Given the description of an element on the screen output the (x, y) to click on. 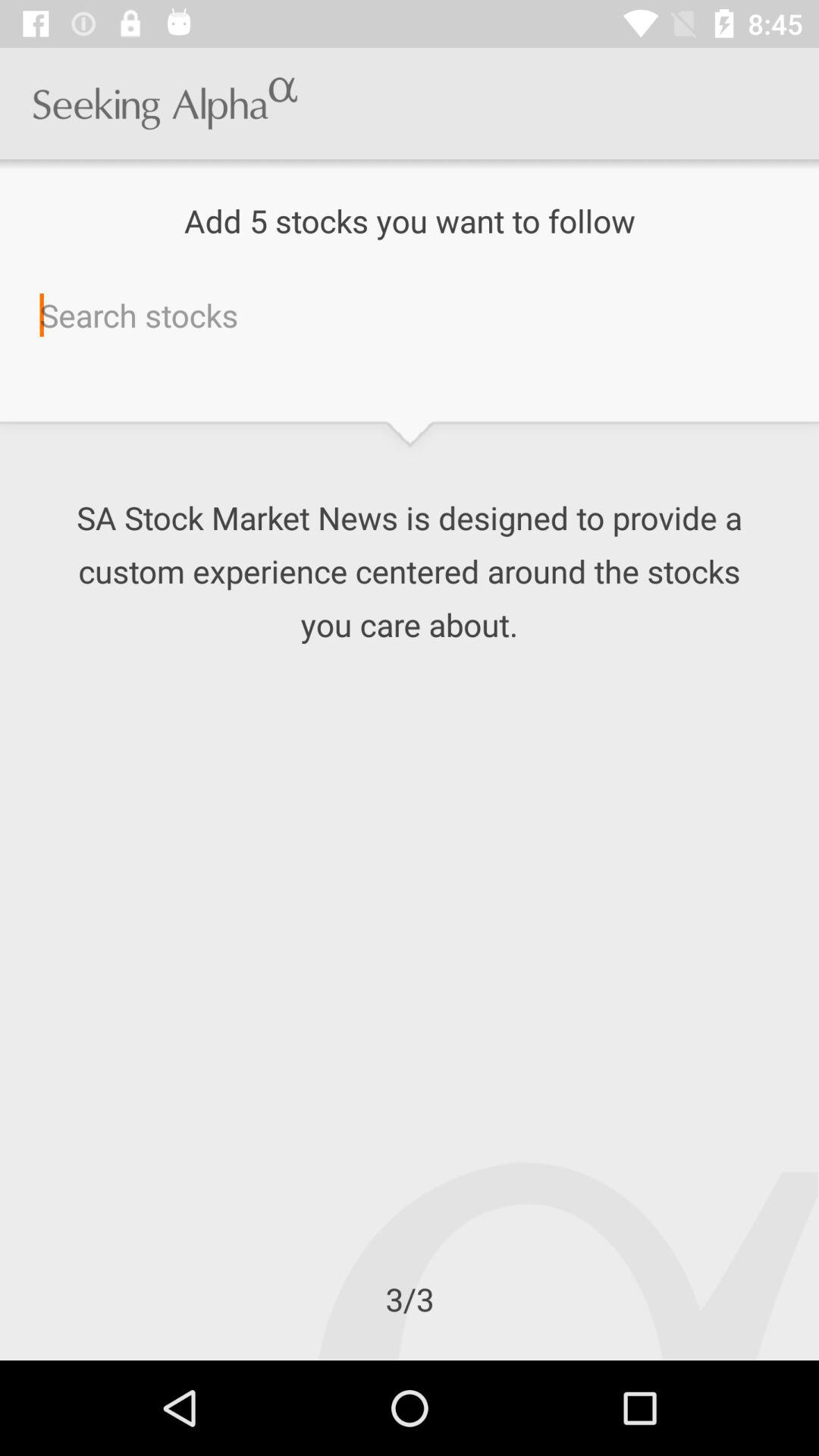
enter search terms (409, 315)
